Given the description of an element on the screen output the (x, y) to click on. 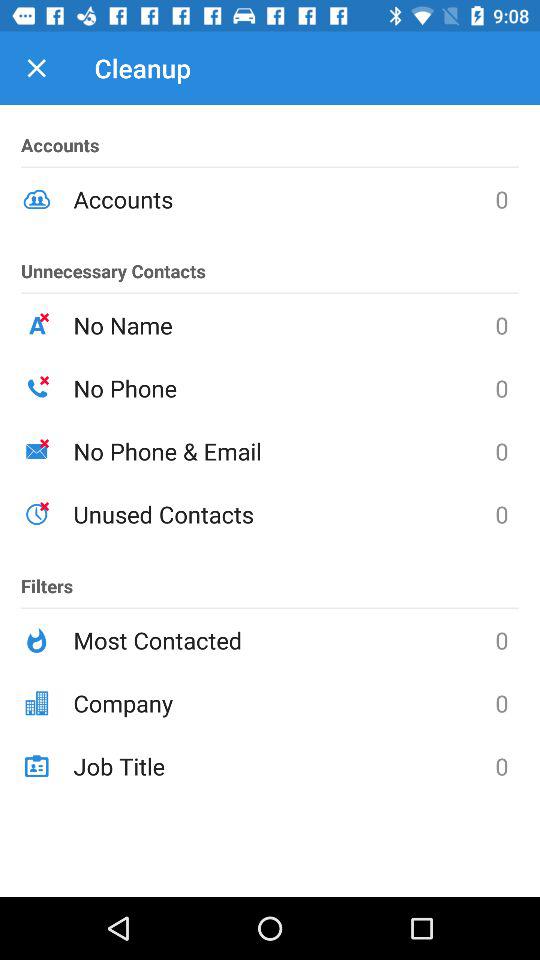
turn off icon next to filters (284, 514)
